Given the description of an element on the screen output the (x, y) to click on. 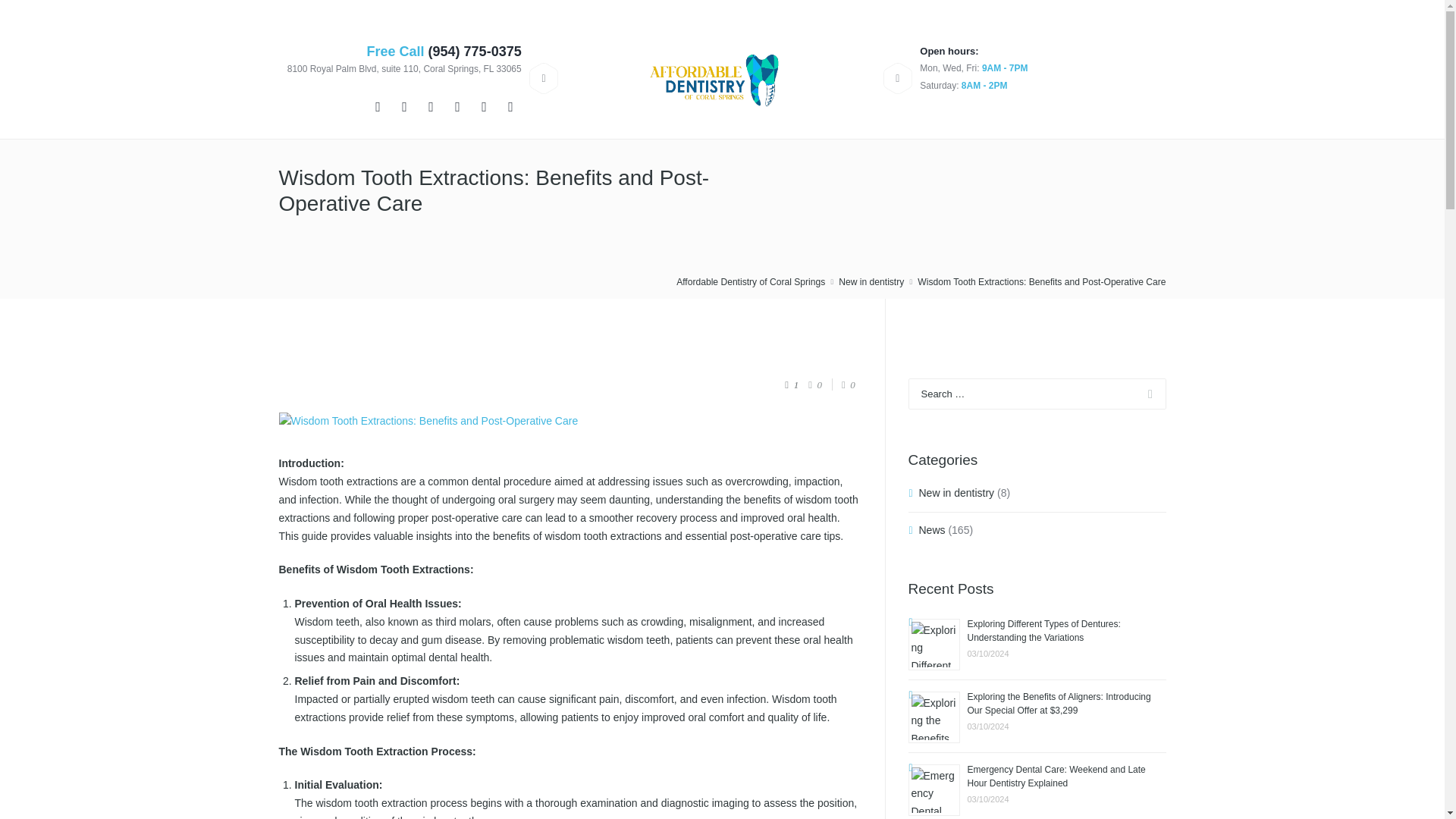
Comments - 0 (815, 385)
Search for: (1037, 393)
News - Affordable Dentistry in Coral Springs (931, 530)
Wisdom Tooth Extractions: Benefits and Post-Operative Care (571, 421)
Views - 1 (790, 385)
Like (843, 385)
